Given the description of an element on the screen output the (x, y) to click on. 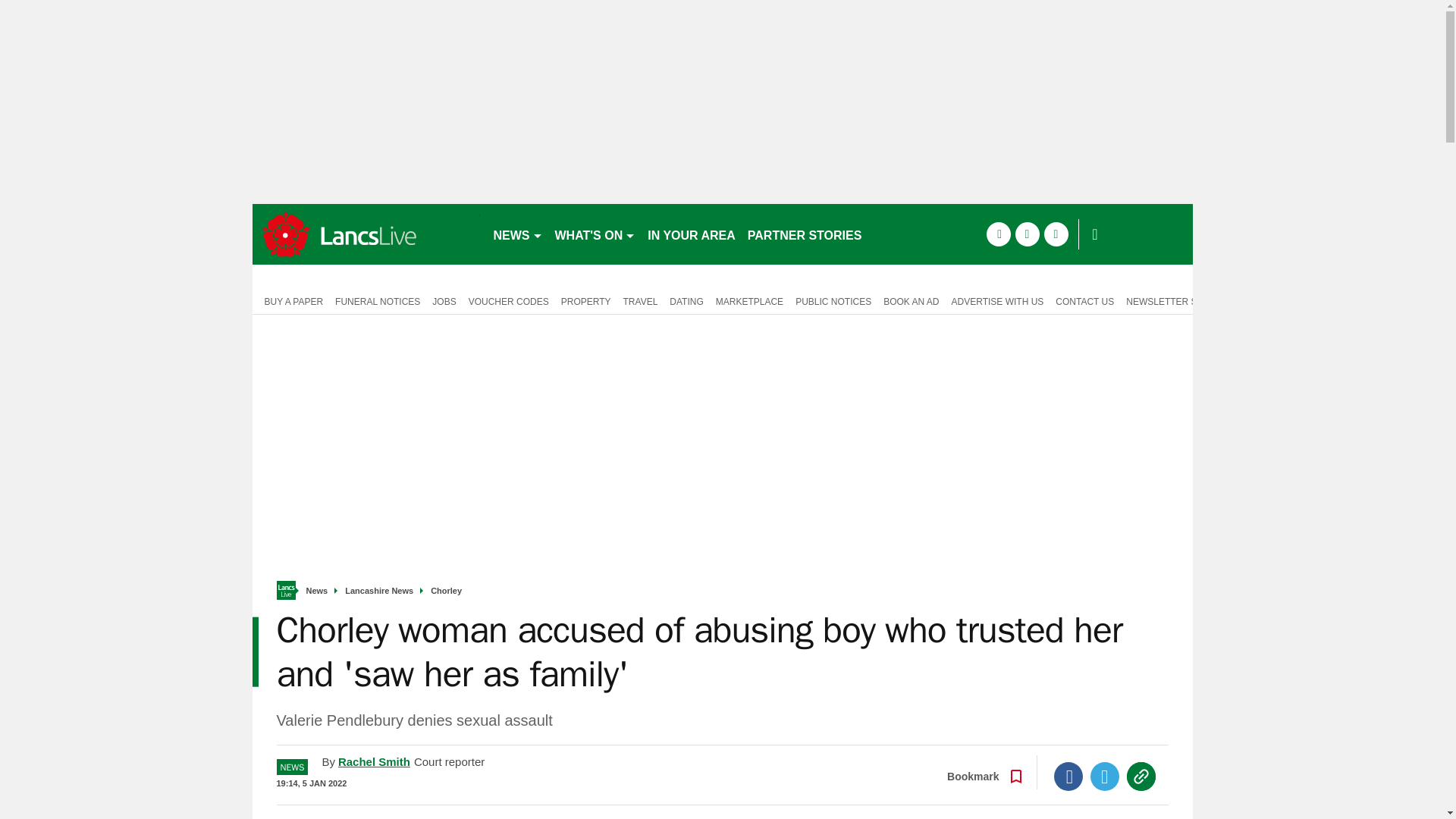
MARKETPLACE (749, 300)
instagram (1055, 233)
Twitter (1104, 776)
twitter (1026, 233)
PARTNER STORIES (804, 233)
ADVERTISE WITH US (996, 300)
PROPERTY (585, 300)
PUBLIC NOTICES (833, 300)
BUY A PAPER (290, 300)
TRAVEL (640, 300)
